Given the description of an element on the screen output the (x, y) to click on. 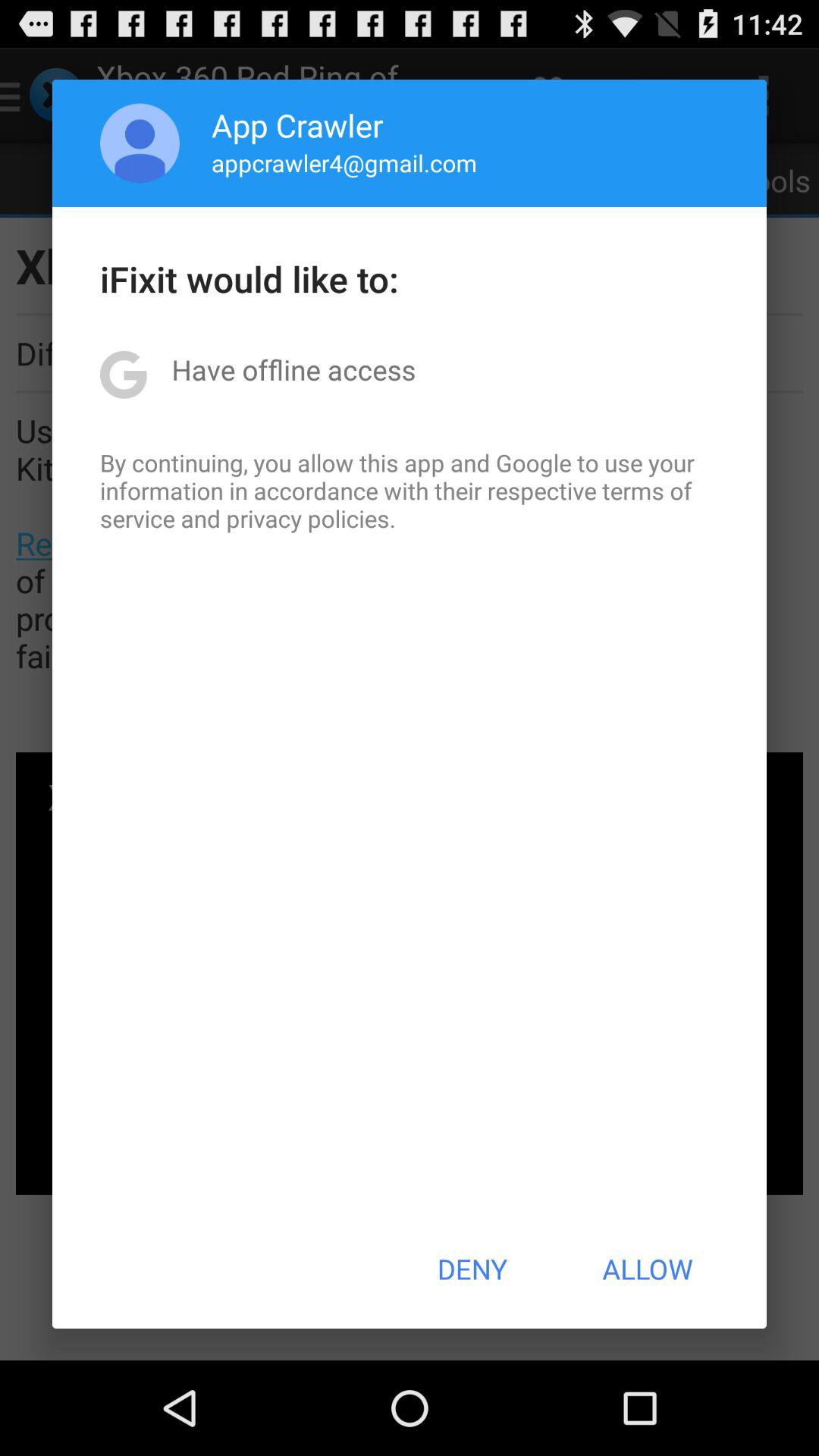
launch the item above the ifixit would like item (344, 162)
